Given the description of an element on the screen output the (x, y) to click on. 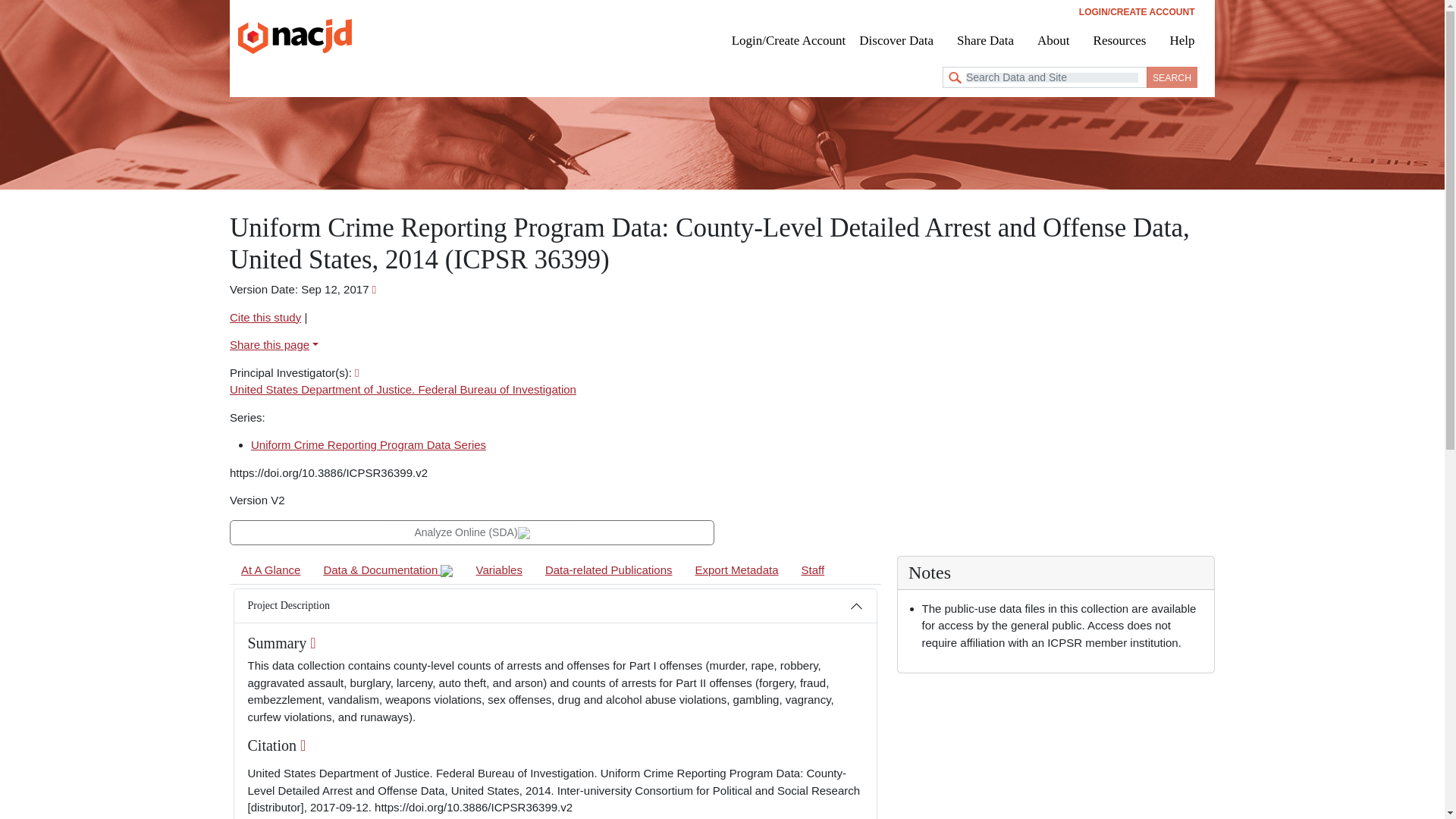
search our data and website (1044, 76)
Discover Data (901, 39)
About (1053, 39)
Share Data (985, 39)
Help (1181, 39)
Resources (1119, 39)
SEARCH (1171, 76)
